Given the description of an element on the screen output the (x, y) to click on. 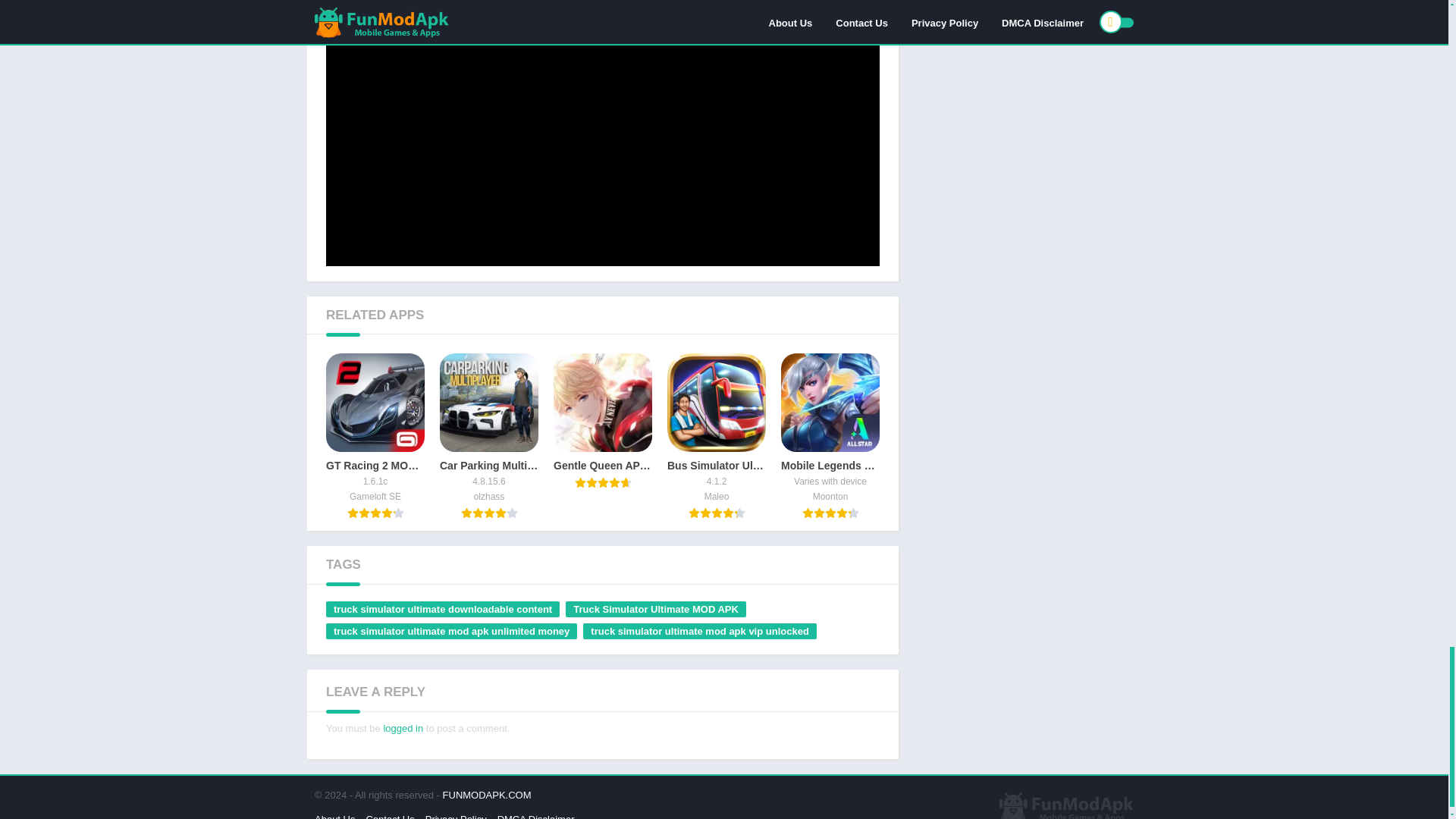
Gentle Queen APK v1.22.0209 Download For Android (602, 420)
